Given the description of an element on the screen output the (x, y) to click on. 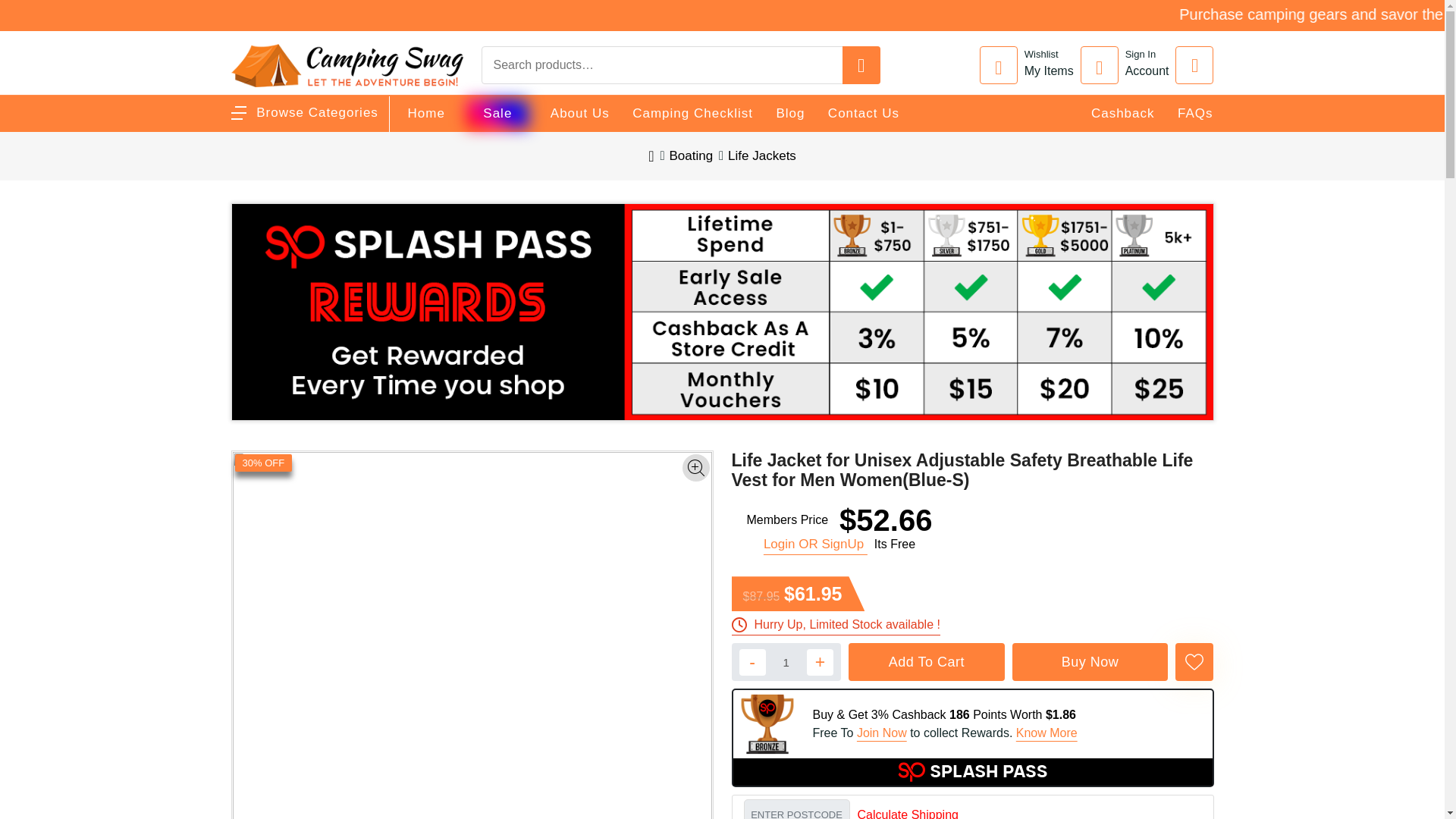
About Us (580, 113)
Sale (497, 113)
Search (1363, 17)
Home (426, 113)
Browse Categories (303, 112)
Camping Checklist (691, 113)
